Given the description of an element on the screen output the (x, y) to click on. 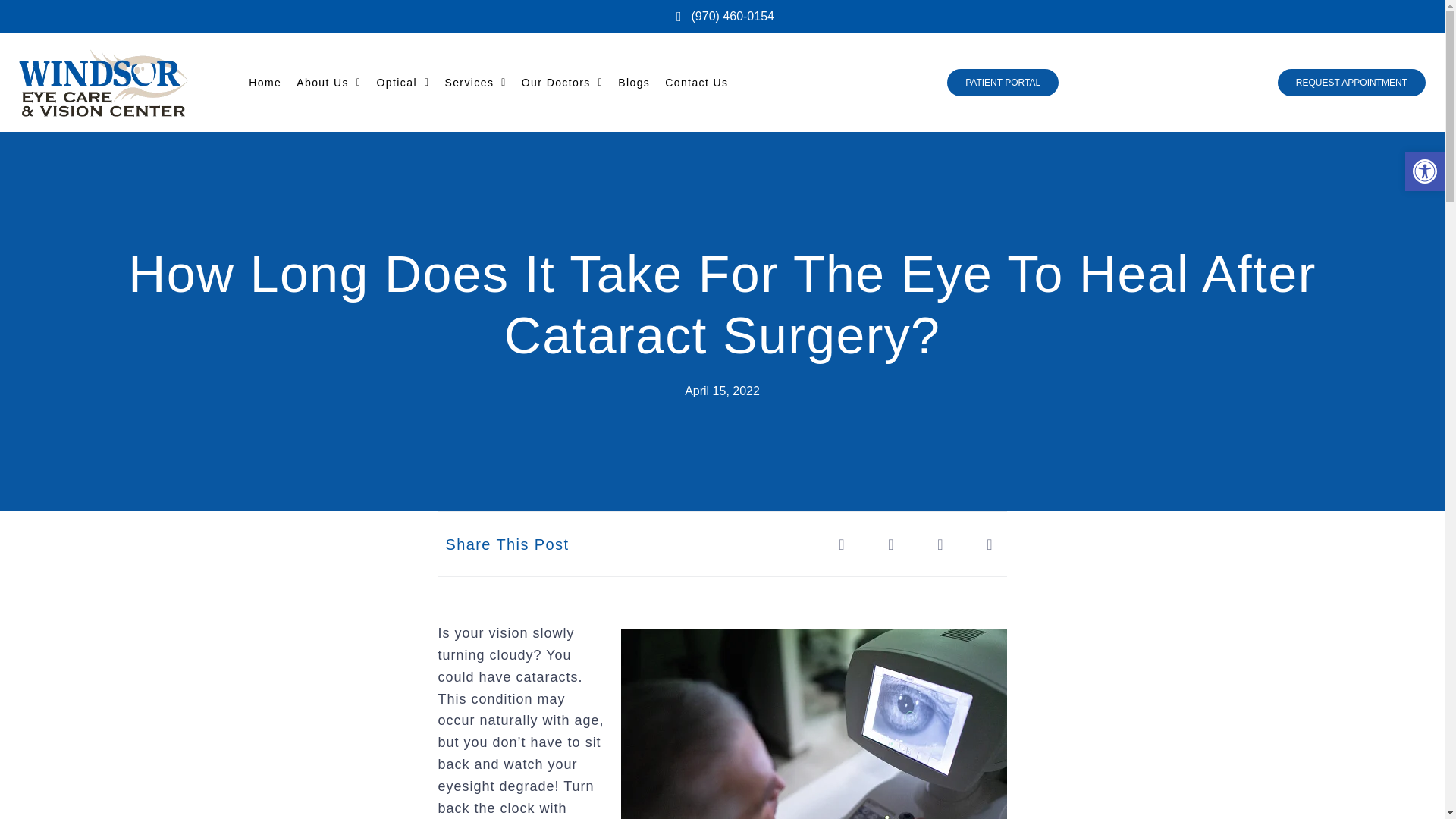
About Us (329, 82)
Optical (403, 82)
Accessibility Tools (1424, 170)
Services (474, 82)
Contact Us (696, 82)
Home (264, 82)
Our Doctors (561, 82)
Blogs (633, 82)
